Given the description of an element on the screen output the (x, y) to click on. 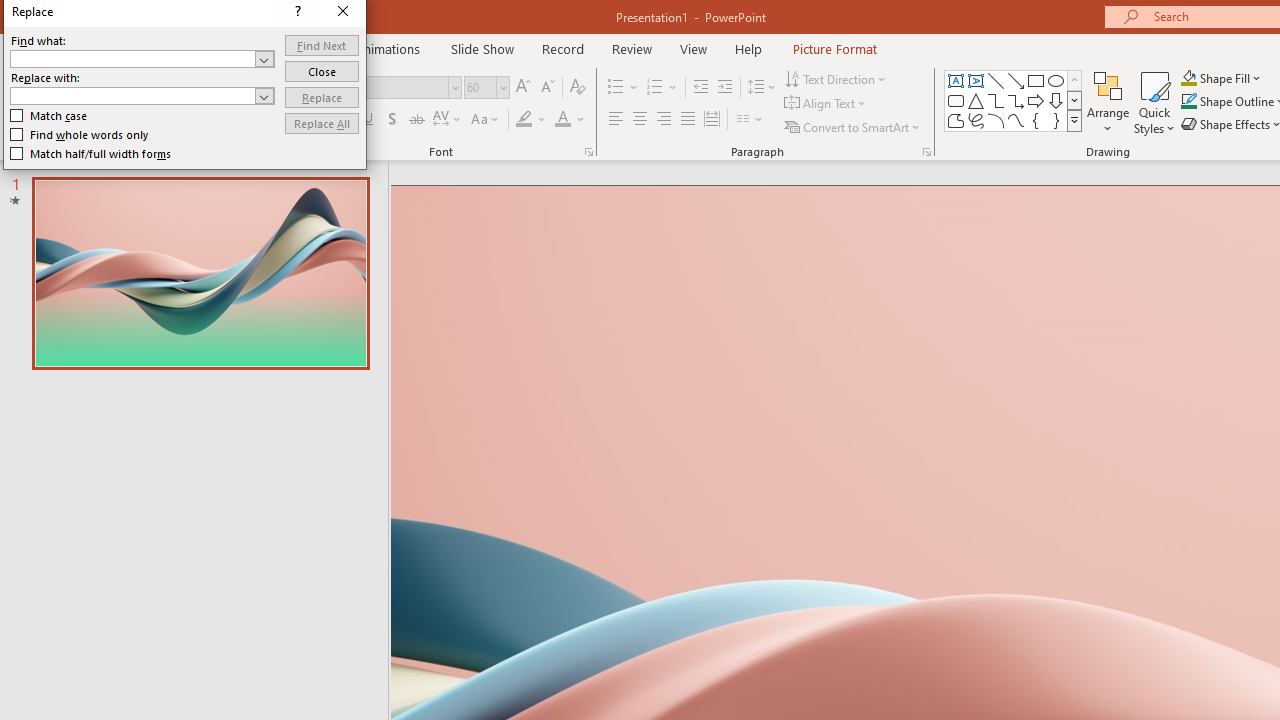
Replace All (620, 335)
